Given the description of an element on the screen output the (x, y) to click on. 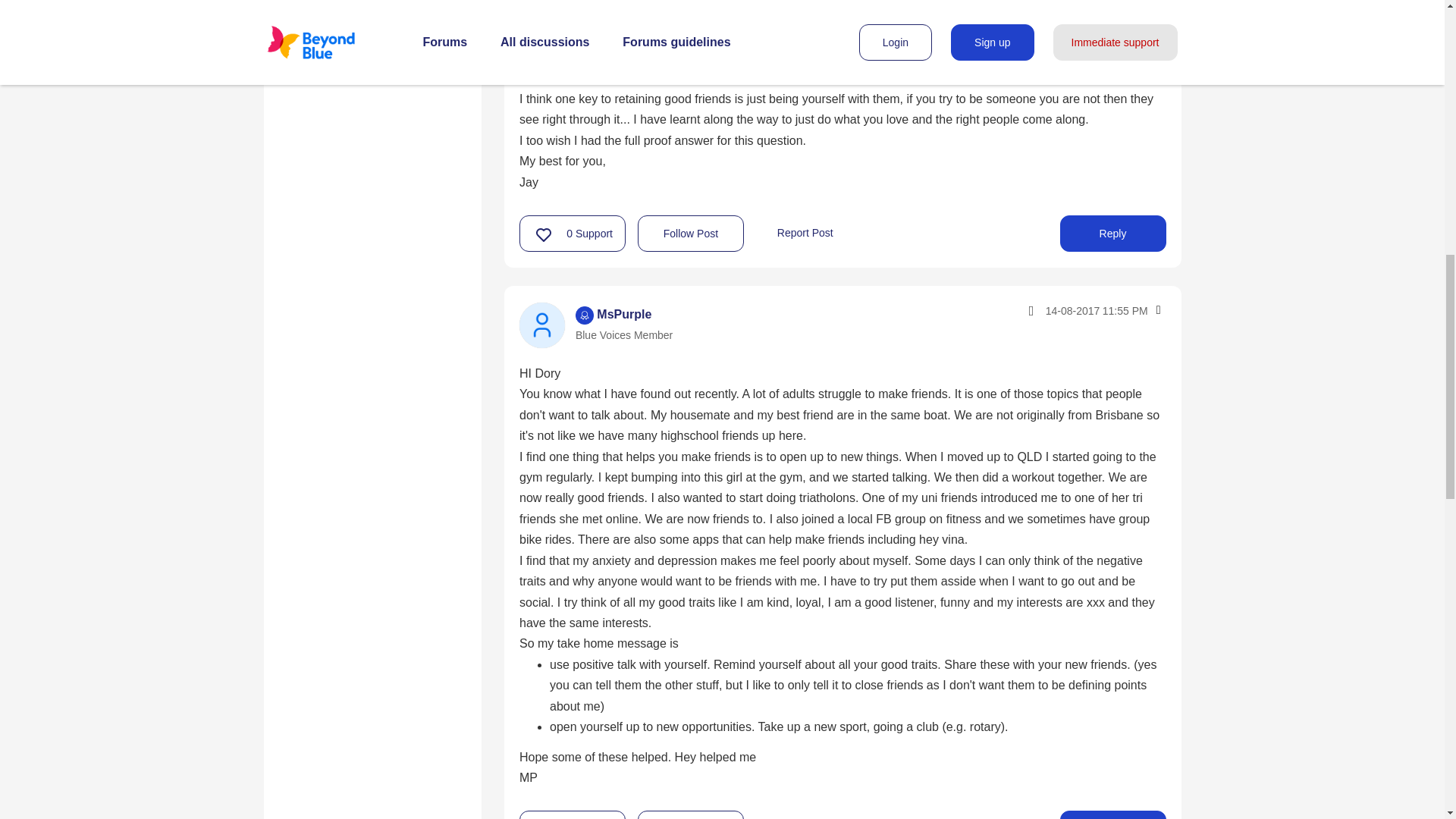
Show option menu (1157, 309)
Blue Voices Member (584, 315)
Posted on (1063, 310)
People like me (331, 49)
Caring for myself and others (372, 12)
MsPurple (541, 325)
BballJ (541, 5)
Click here to give support to this post. (543, 234)
